Given the description of an element on the screen output the (x, y) to click on. 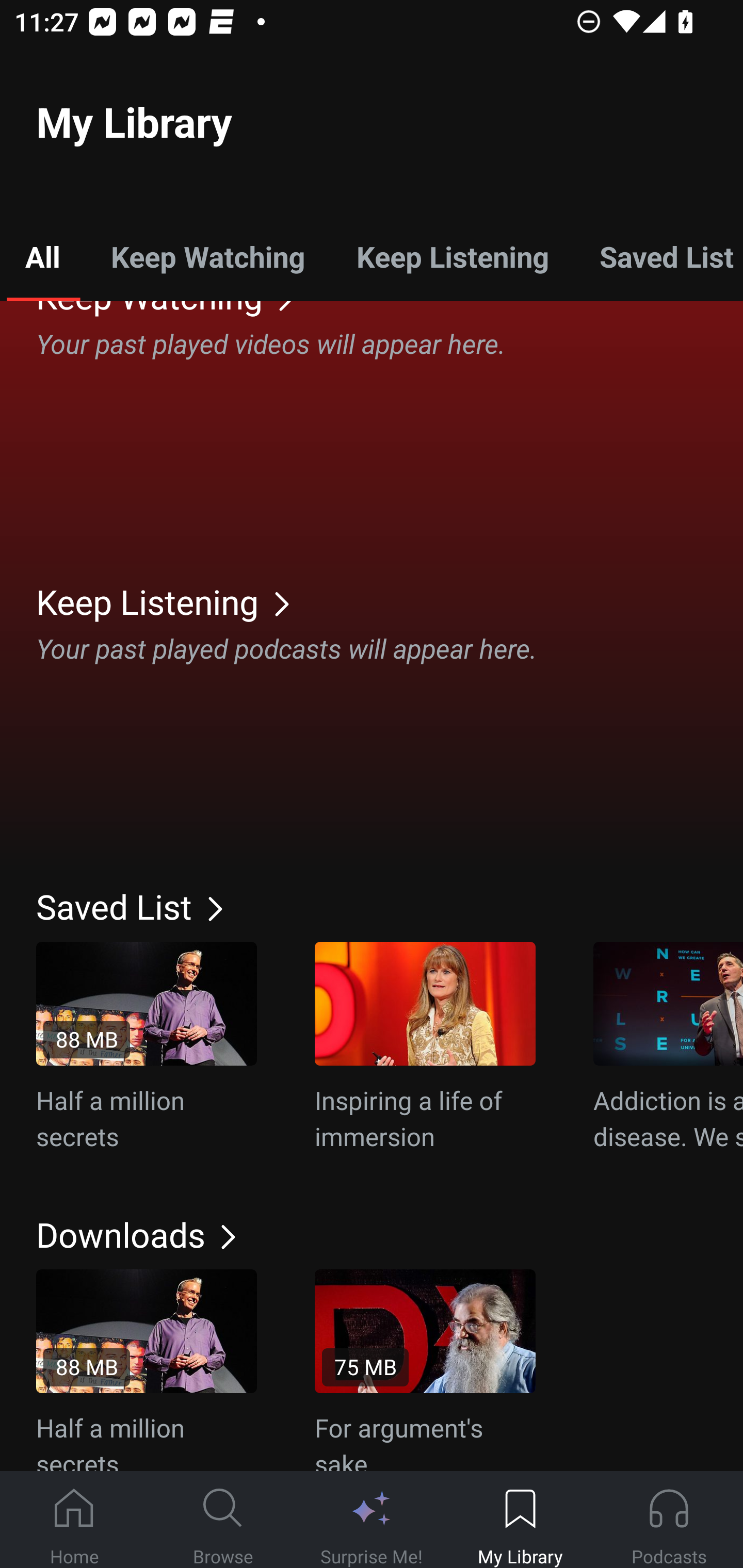
All (42, 256)
Keep Watching (207, 256)
Keep Listening (452, 256)
Saved List (658, 256)
Keep Listening (389, 601)
Saved List (389, 906)
88 MB Half a million secrets (146, 1048)
Inspiring a life of immersion (425, 1048)
Downloads (389, 1234)
88 MB Half a million secrets (146, 1370)
75 MB For argument's sake (425, 1370)
Home (74, 1520)
Browse (222, 1520)
Surprise Me! (371, 1520)
My Library (519, 1520)
Podcasts (668, 1520)
